Given the description of an element on the screen output the (x, y) to click on. 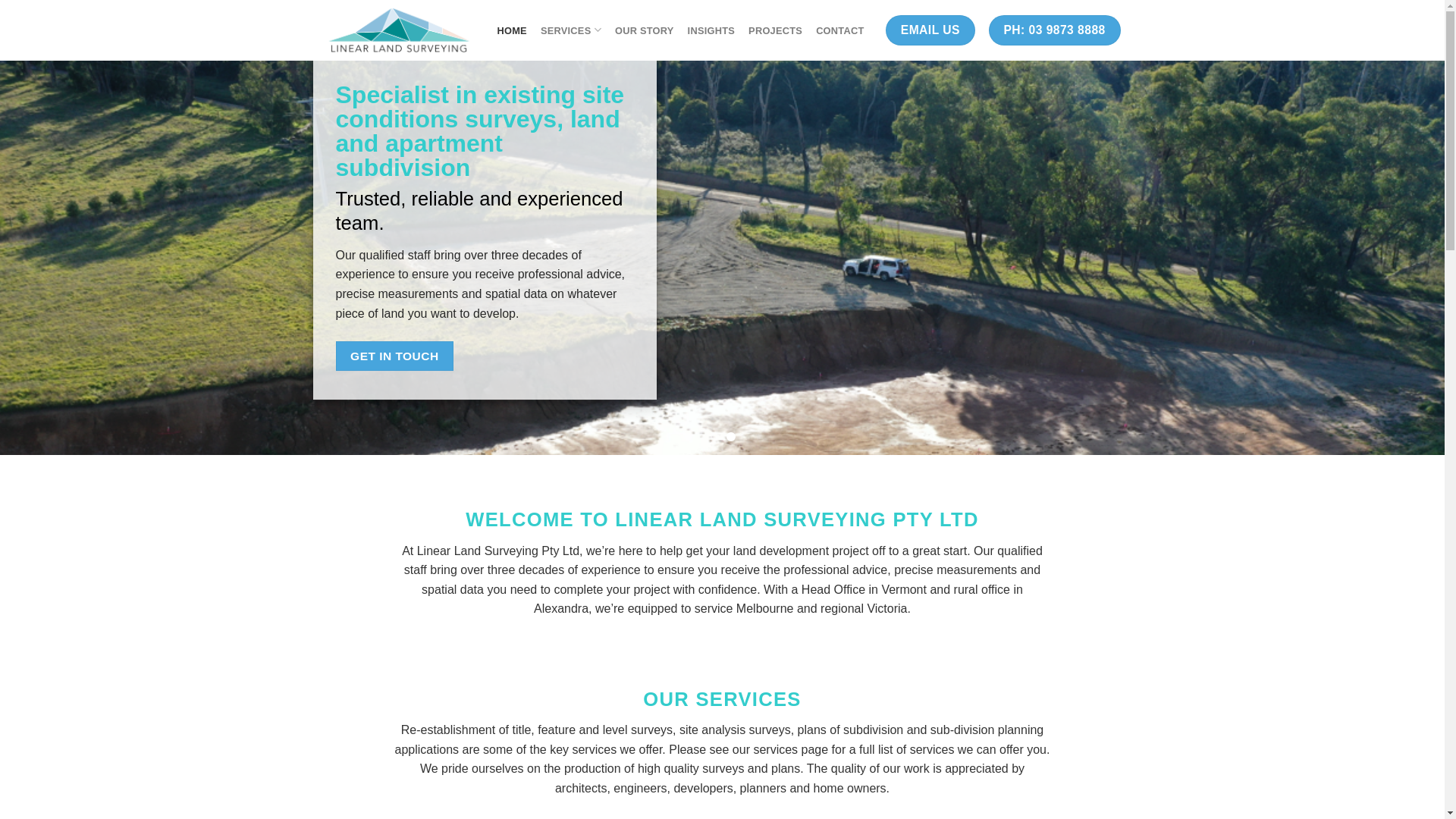
Linear Land Surveying - Land Surveyors Melbourne, Victoria. Element type: hover (399, 30)
PROJECTS Element type: text (775, 30)
CONTACT Element type: text (839, 30)
SERVICES Element type: text (570, 29)
HOME Element type: text (512, 30)
GET IN TOUCH Element type: text (394, 355)
PH: 03 9873 8888 Element type: text (1054, 30)
INSIGHTS Element type: text (710, 30)
OUR STORY Element type: text (644, 30)
EMAIL US Element type: text (930, 30)
Skip to content Element type: text (0, 0)
